Given the description of an element on the screen output the (x, y) to click on. 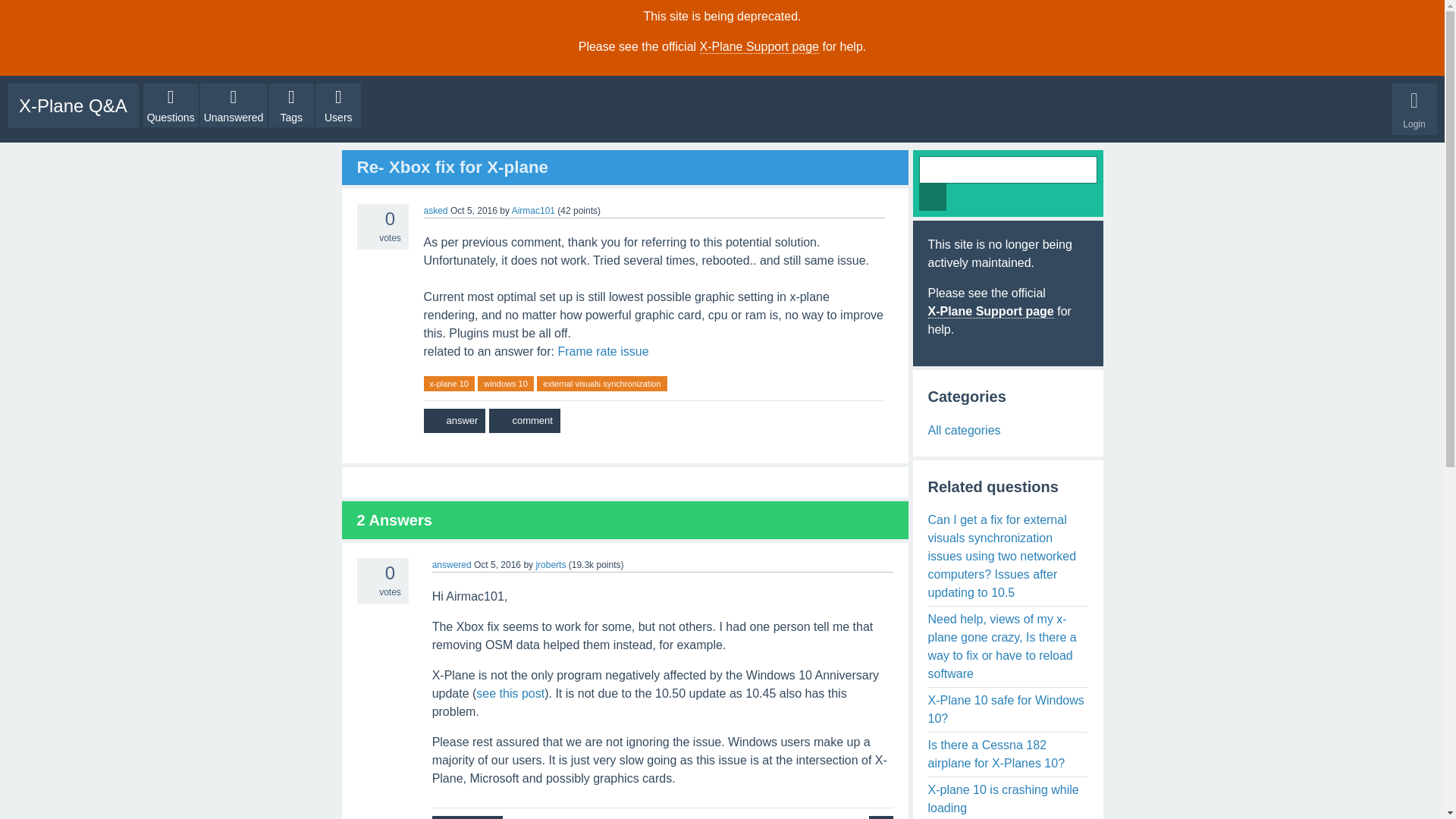
Re- Xbox fix for X-plane (452, 167)
answered (451, 564)
Click to vote down (365, 237)
x-plane 10 (448, 383)
Click to vote down (365, 592)
comment (467, 817)
Frame rate issue (602, 350)
ask related question (881, 817)
answer (453, 420)
jroberts (550, 564)
